Given the description of an element on the screen output the (x, y) to click on. 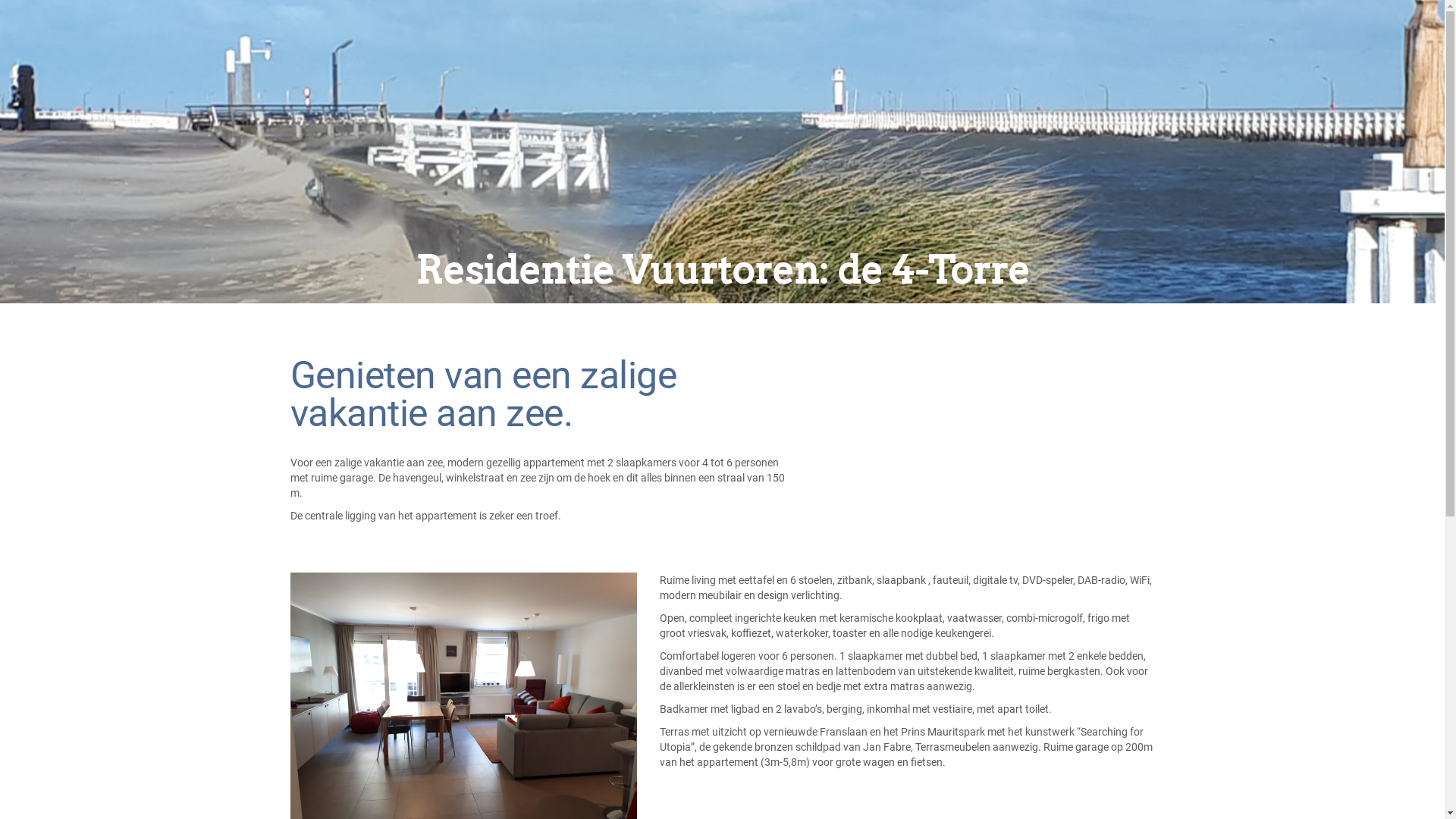
Appartement Element type: text (391, 51)
Contact Element type: text (599, 51)
Home
(current) Element type: text (346, 51)
Omgeving Element type: text (446, 51)
Beschikbaarheid Element type: text (541, 51)
Prijzen Element type: text (486, 51)
